Given the description of an element on the screen output the (x, y) to click on. 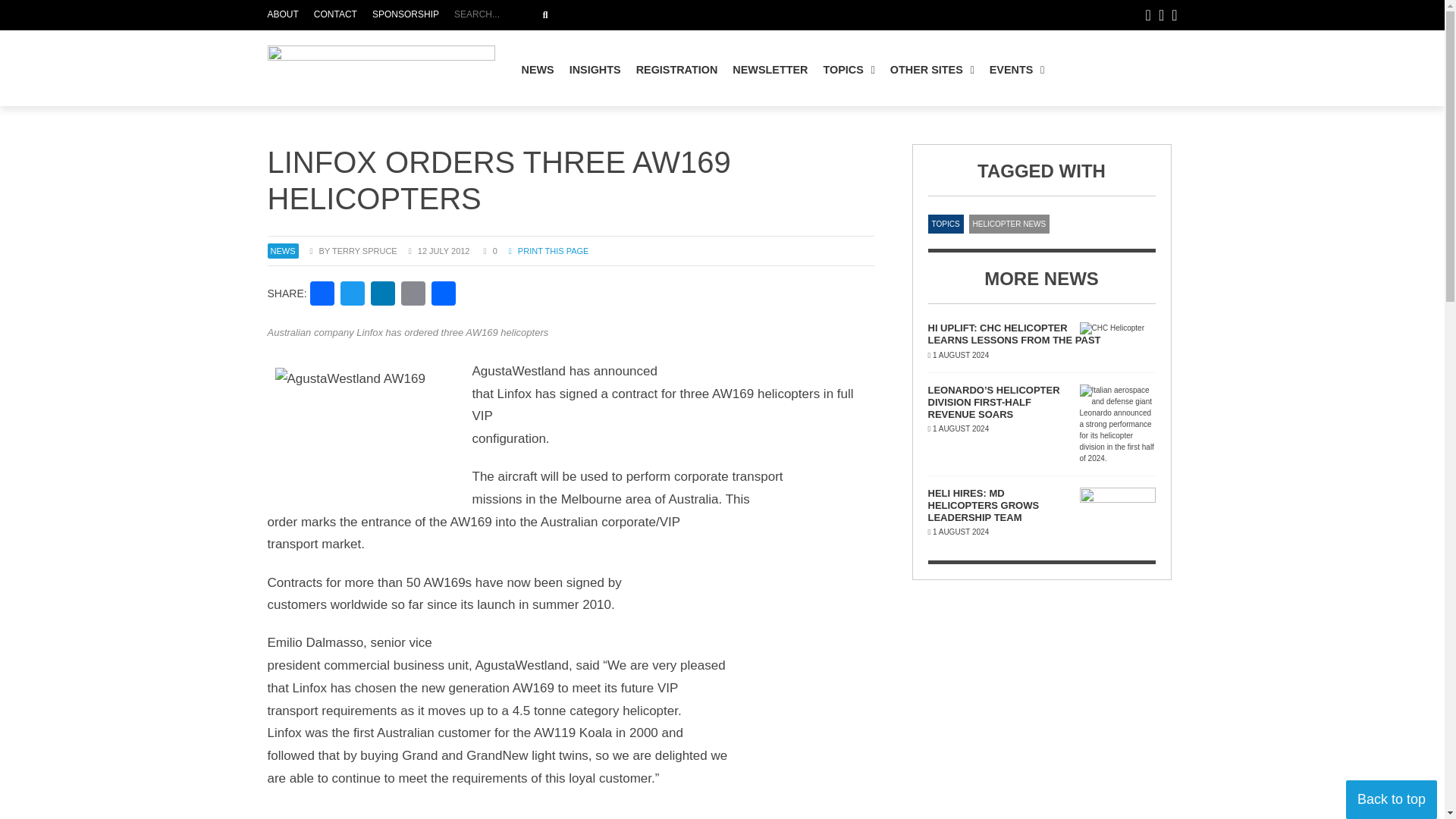
PRINT THIS PAGE (548, 250)
AgustaWestland AW169 (369, 434)
EVENTS (1016, 70)
Email (683, 15)
Facebook (412, 295)
Twitter (322, 295)
INSIGHTS (352, 295)
Facebook (595, 70)
LinkedIn (322, 295)
SPONSORSHIP (382, 295)
CONTACT (405, 15)
LinkedIn (335, 15)
Go to top (544, 14)
